Given the description of an element on the screen output the (x, y) to click on. 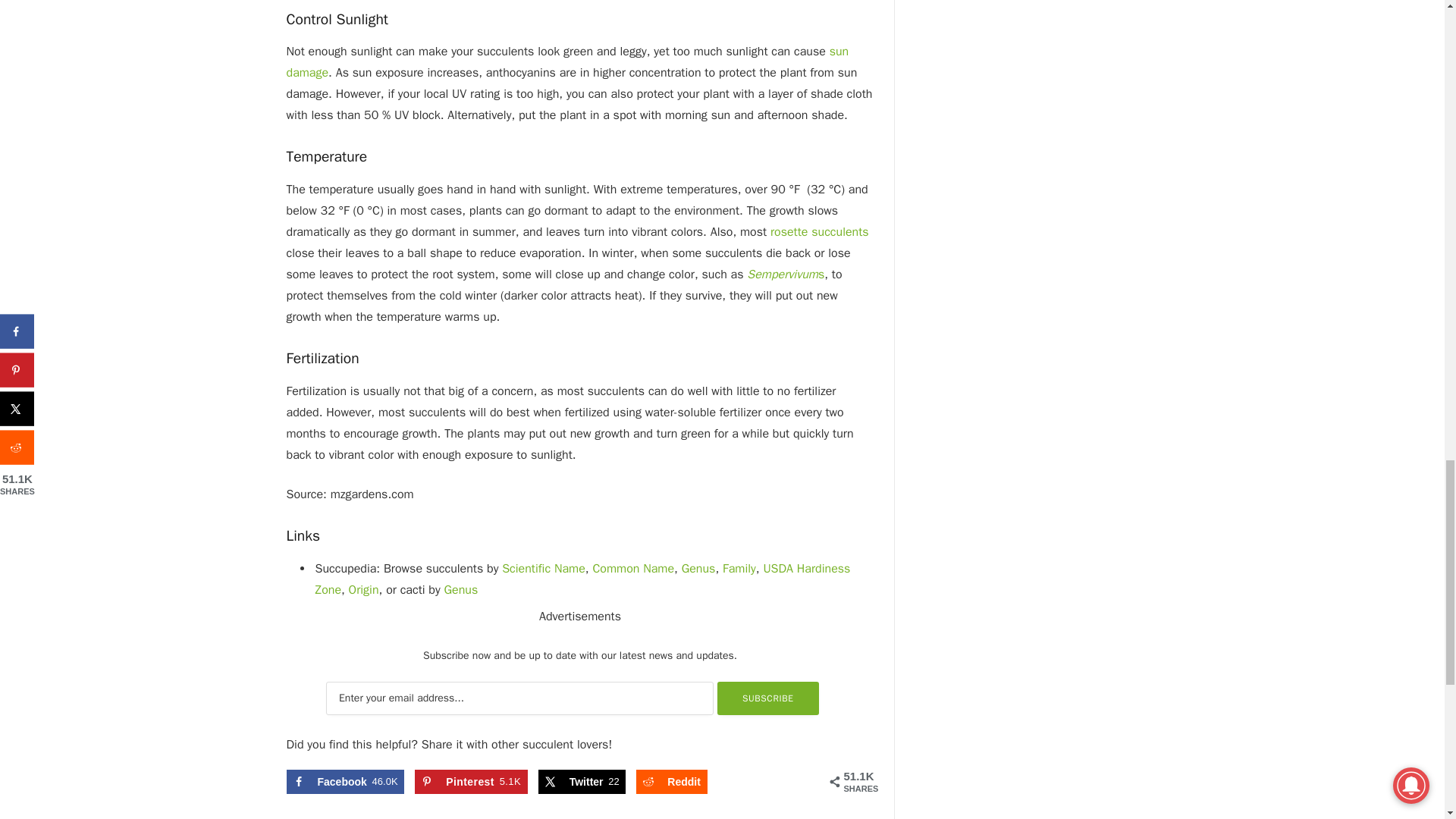
Share on Reddit (671, 781)
Share on X (582, 781)
Share on Facebook (345, 781)
Save to Pinterest (470, 781)
Subscribe (768, 697)
